Given the description of an element on the screen output the (x, y) to click on. 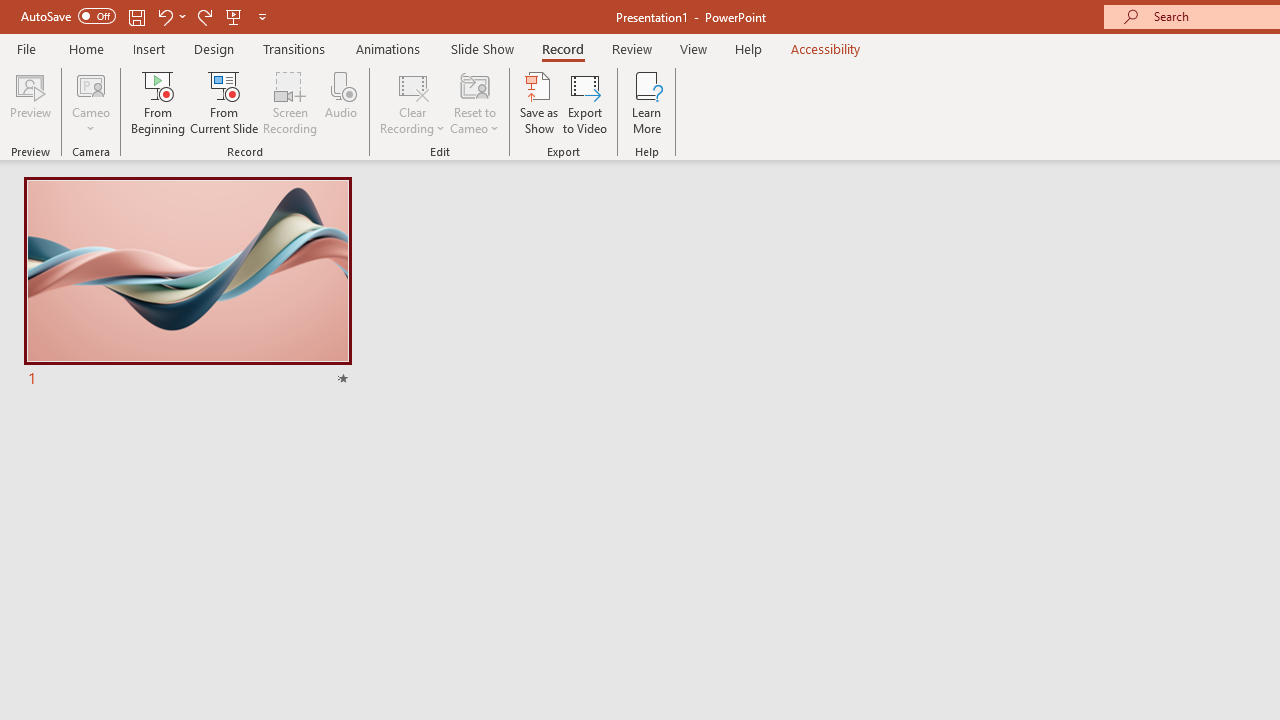
Learn More (646, 102)
From Beginning... (158, 102)
Save as Show (539, 102)
From Current Slide... (224, 102)
Screen Recording (290, 102)
